Given the description of an element on the screen output the (x, y) to click on. 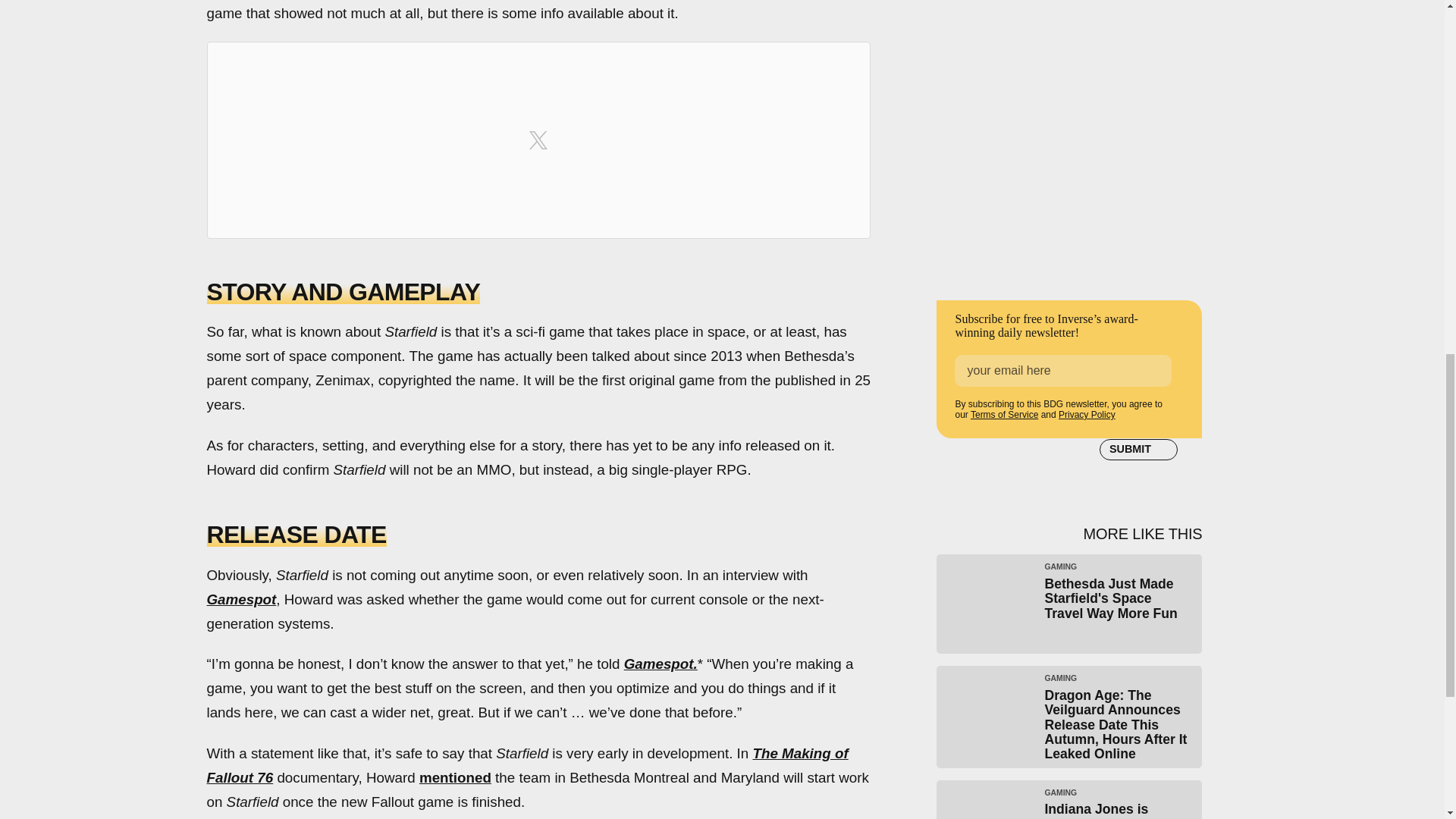
mentioned (455, 777)
Gamespot (241, 599)
Gamespot. (660, 663)
Privacy Policy (1086, 414)
Terms of Service (1004, 414)
SUBMIT (1138, 449)
The Making of Fallout 76 (526, 765)
